Given the description of an element on the screen output the (x, y) to click on. 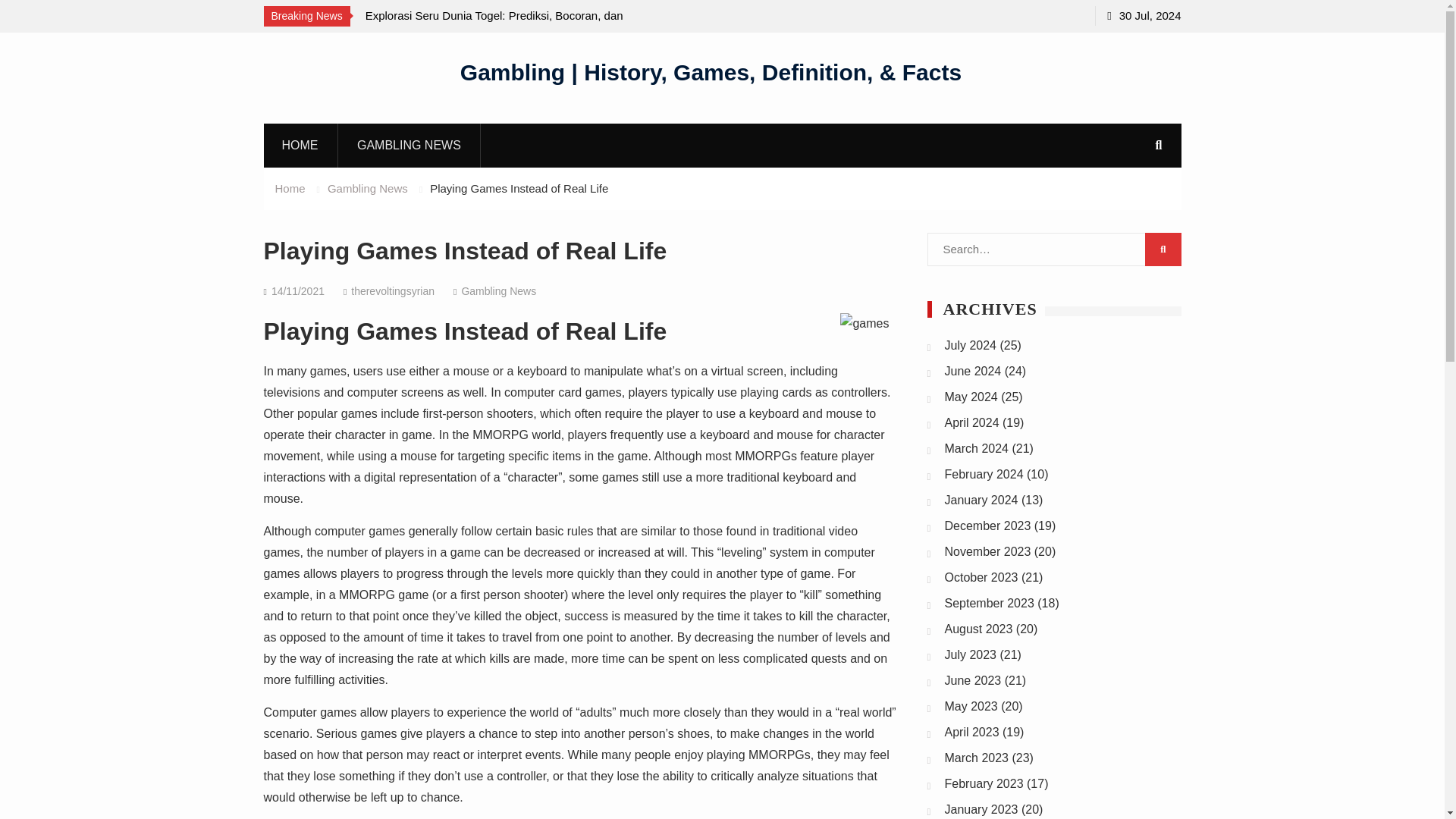
June 2024 (972, 370)
November 2023 (987, 551)
Home (289, 187)
September 2023 (988, 603)
April 2024 (971, 422)
July 2024 (970, 345)
Search for: (1053, 249)
July 2023 (970, 654)
February 2024 (983, 473)
October 2023 (980, 576)
Gambling News (498, 291)
May 2024 (970, 396)
August 2023 (978, 628)
December 2023 (987, 525)
